Given the description of an element on the screen output the (x, y) to click on. 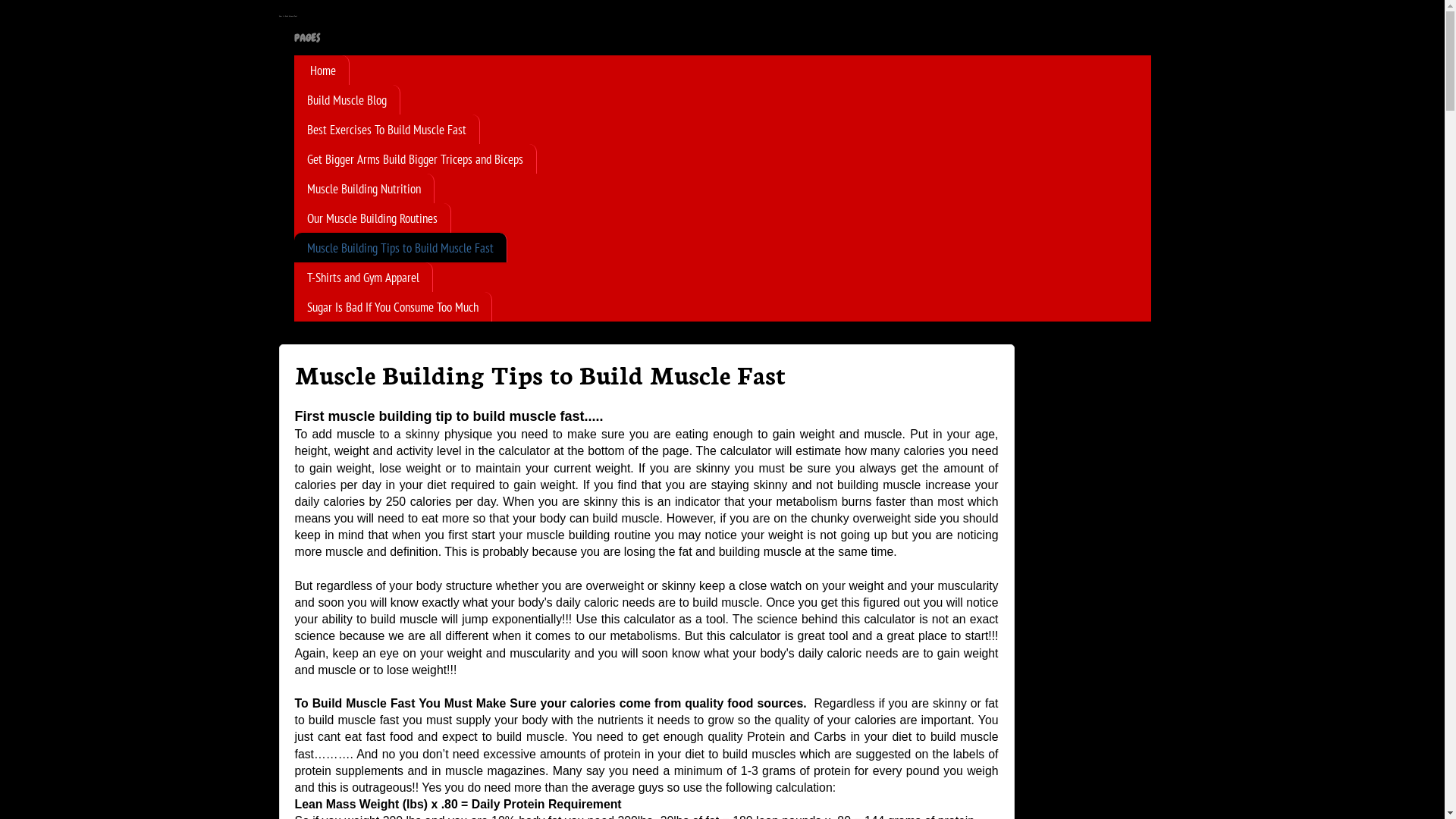
T-Shirts and Gym Apparel Element type: text (363, 276)
Sugar Is Bad If You Consume Too Much Element type: text (393, 306)
How to Build Muscle Fast Element type: text (288, 15)
Muscle Building Nutrition Element type: text (364, 188)
Build Muscle Blog Element type: text (347, 99)
Muscle Building Tips to Build Muscle Fast Element type: text (400, 247)
Best Exercises To Build Muscle Fast Element type: text (387, 129)
Our Muscle Building Routines Element type: text (372, 217)
Get Bigger Arms Build Bigger Triceps and Biceps Element type: text (415, 158)
Home Element type: text (321, 69)
